Given the description of an element on the screen output the (x, y) to click on. 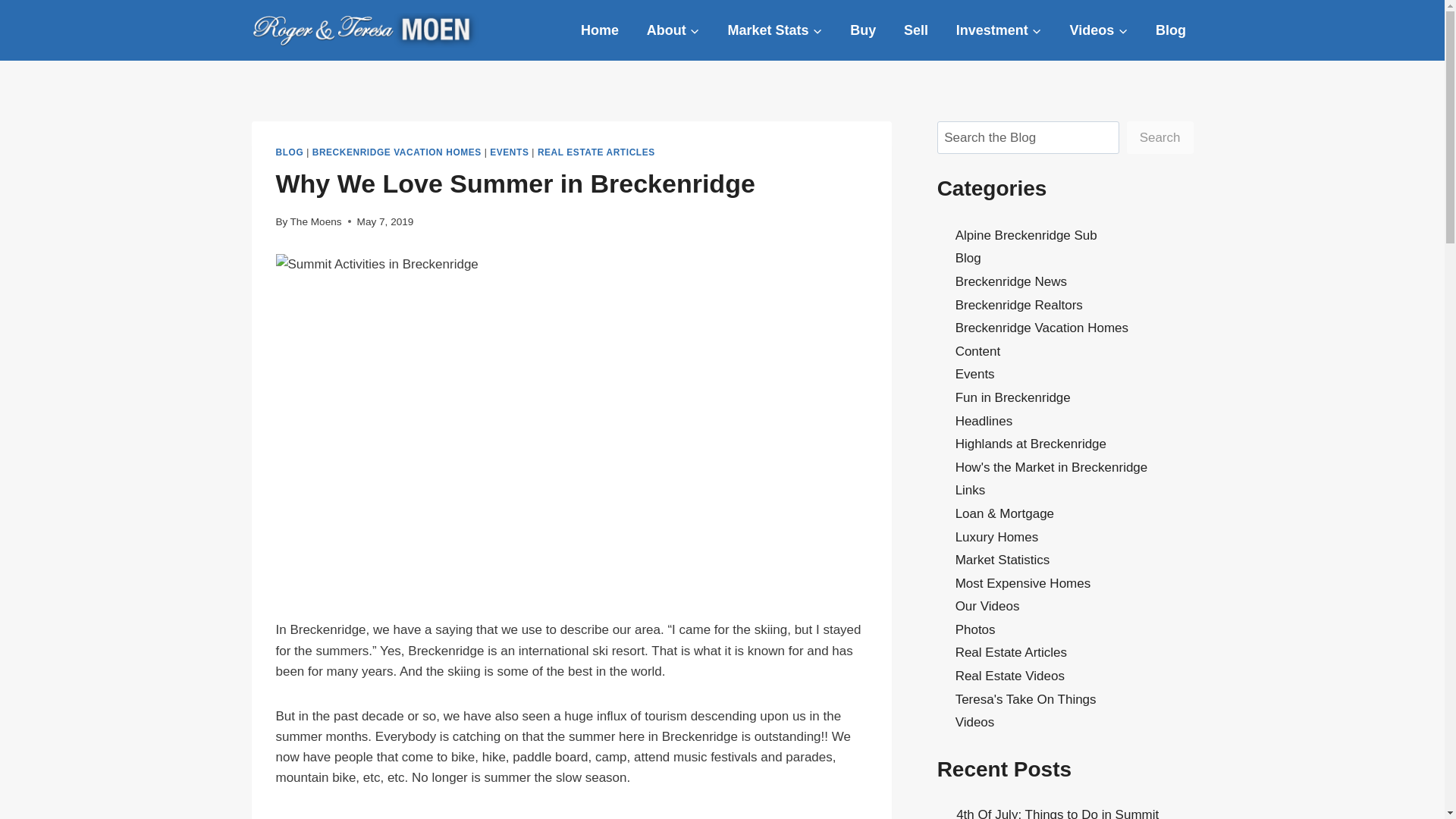
Investment (998, 30)
Market Stats (774, 30)
The Moens (315, 221)
REAL ESTATE ARTICLES (596, 152)
BRECKENRIDGE VACATION HOMES (397, 152)
BLOG (290, 152)
EVENTS (508, 152)
About (672, 30)
Videos (1098, 30)
